Given the description of an element on the screen output the (x, y) to click on. 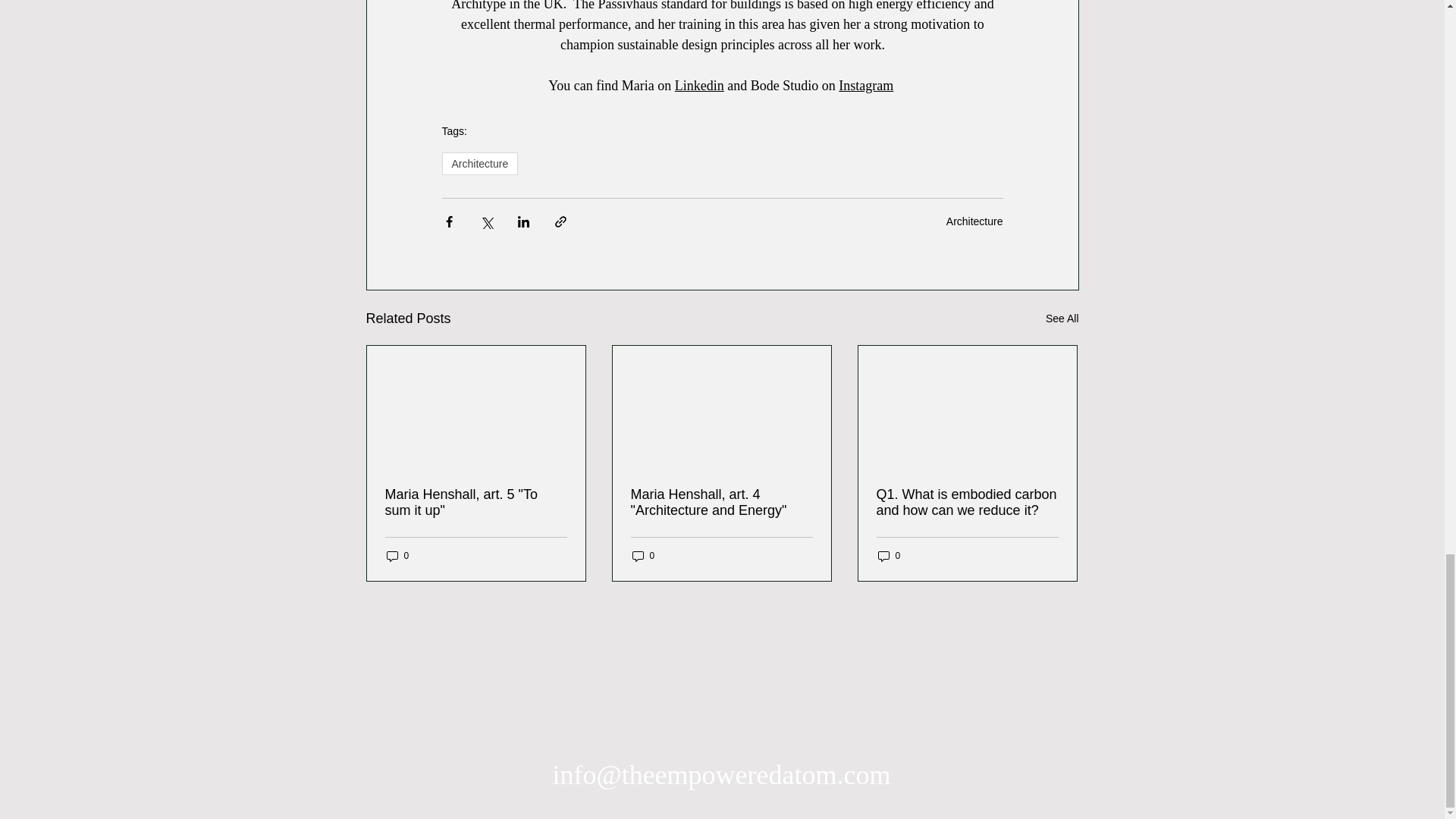
Instagram (865, 85)
0 (643, 555)
Architecture (479, 163)
Maria Henshall, art. 5 "To sum it up" (476, 502)
0 (397, 555)
Architecture (974, 221)
Q1. What is embodied carbon and how can we reduce it? (967, 502)
Linkedin (698, 85)
Maria Henshall, art. 4 "Architecture and Energy" (721, 502)
0 (889, 555)
